Given the description of an element on the screen output the (x, y) to click on. 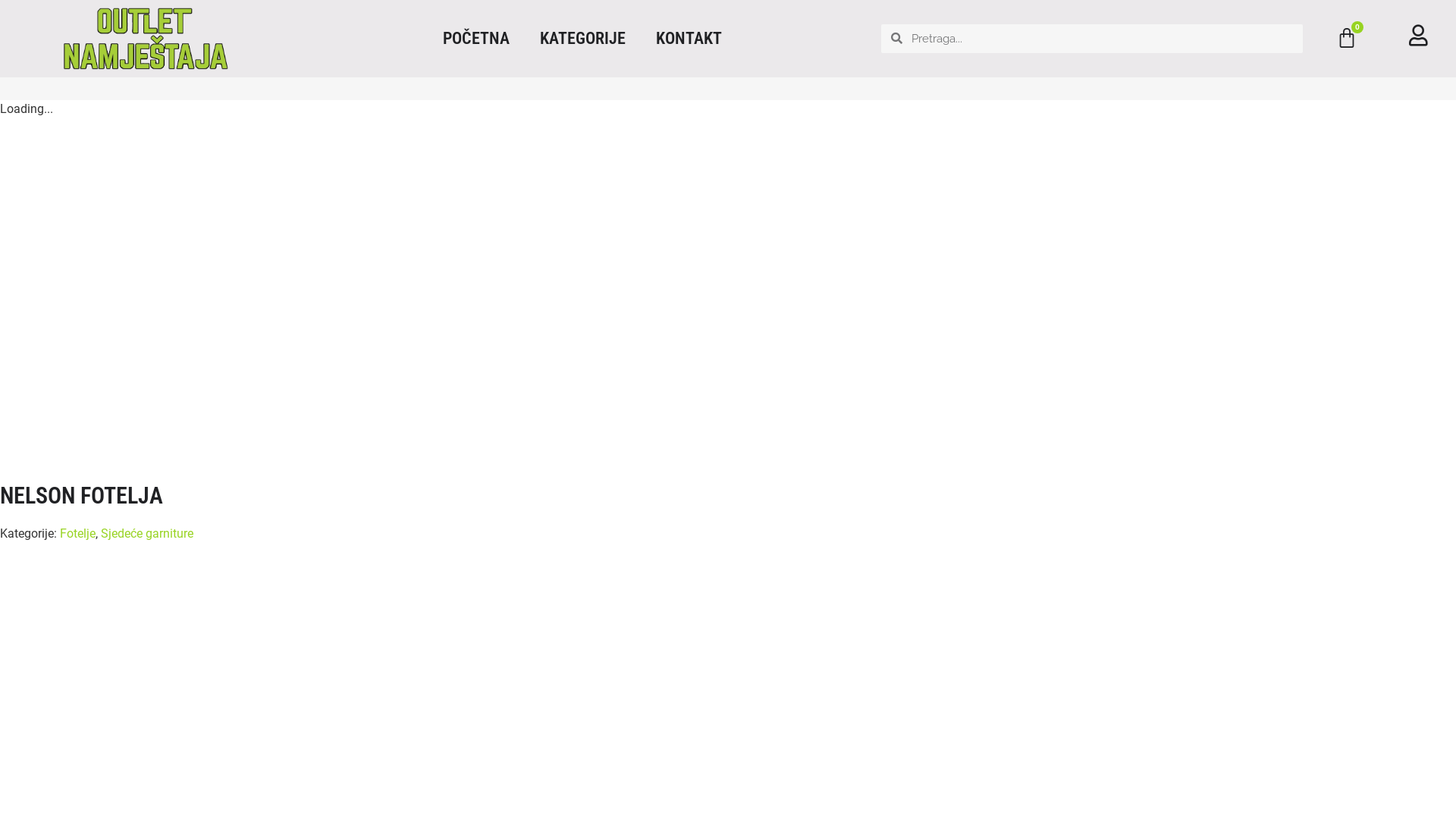
KONTAKT Element type: text (688, 38)
Fotelje Element type: text (77, 533)
Search Element type: hover (1102, 38)
KATEGORIJE Element type: text (582, 38)
